Given the description of an element on the screen output the (x, y) to click on. 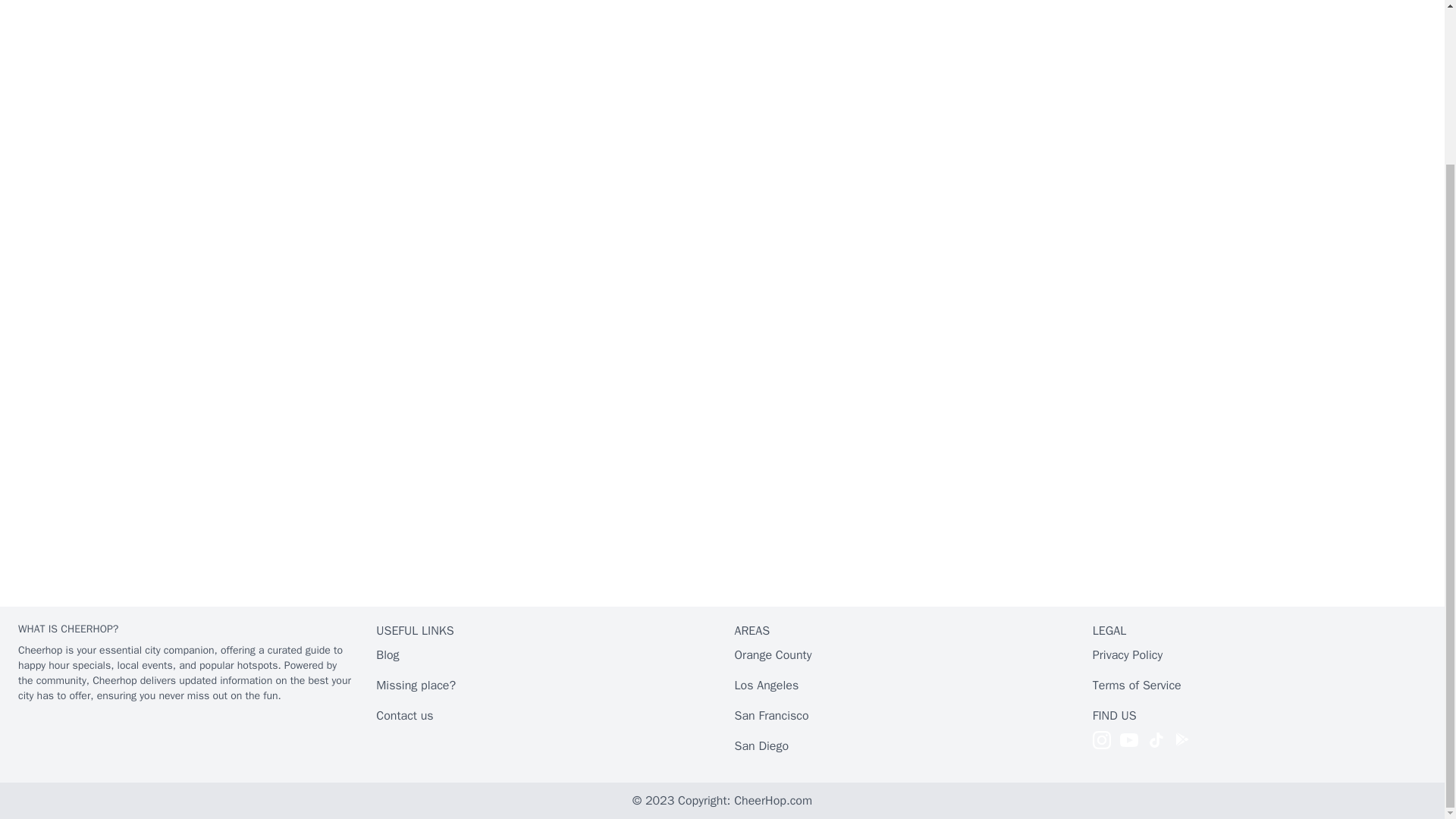
Blog (386, 654)
Privacy Policy (1127, 654)
San Francisco (770, 715)
Contact us (403, 715)
Los Angeles (765, 685)
CheerHop.com (772, 800)
San Diego (761, 745)
Missing place? (415, 685)
Orange County (771, 654)
Terms of Service (1136, 685)
